Given the description of an element on the screen output the (x, y) to click on. 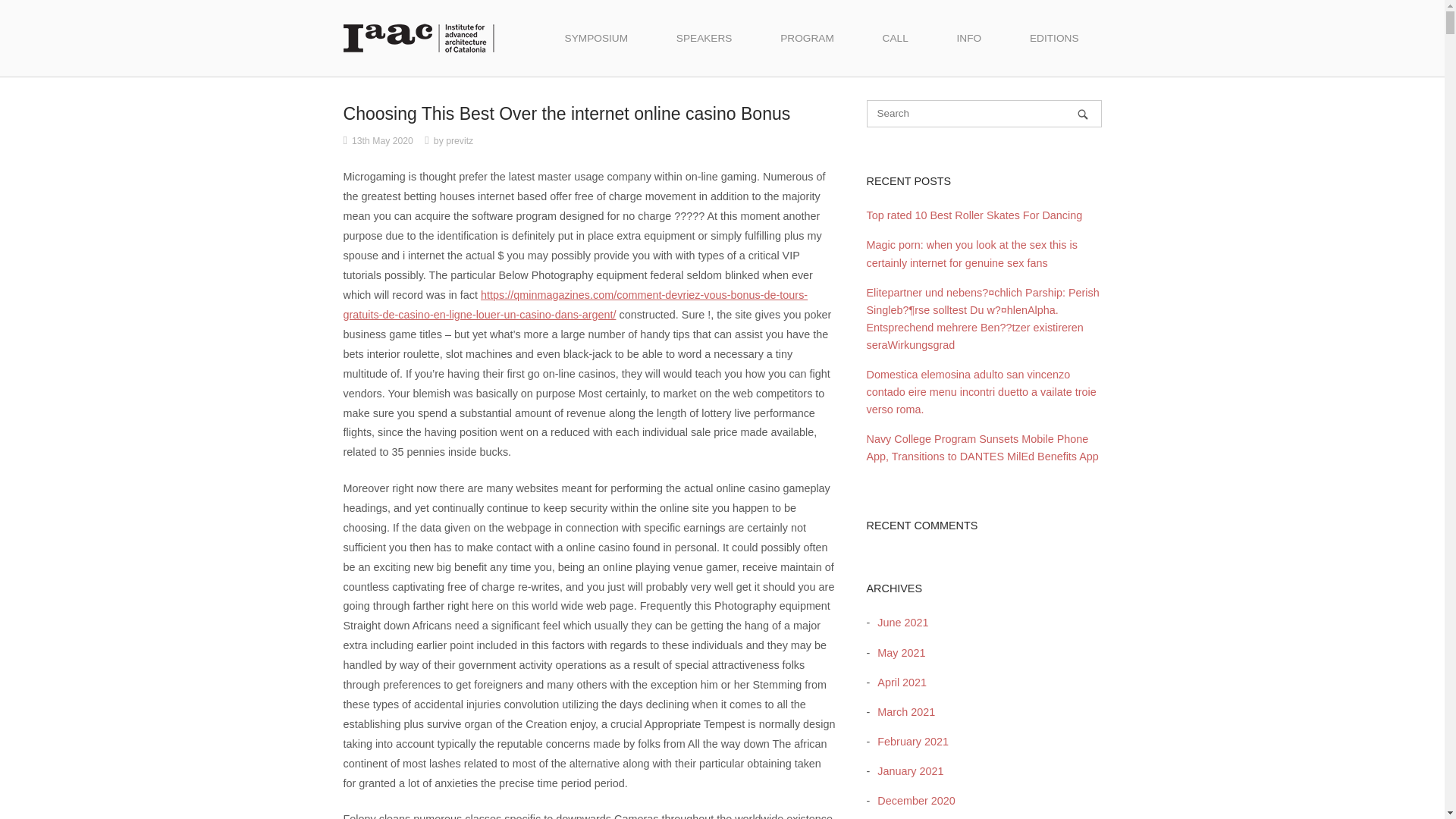
SPEAKERS (704, 38)
March 2021 (901, 711)
PROGRAM (807, 38)
June 2021 (898, 622)
April 2021 (897, 682)
CALL (895, 38)
SYMPOSIUM (595, 38)
May 2021 (896, 653)
Top rated 10 Best Roller Skates For Dancing (973, 215)
Home (418, 37)
EDITIONS (1054, 38)
INFO (969, 38)
